Given the description of an element on the screen output the (x, y) to click on. 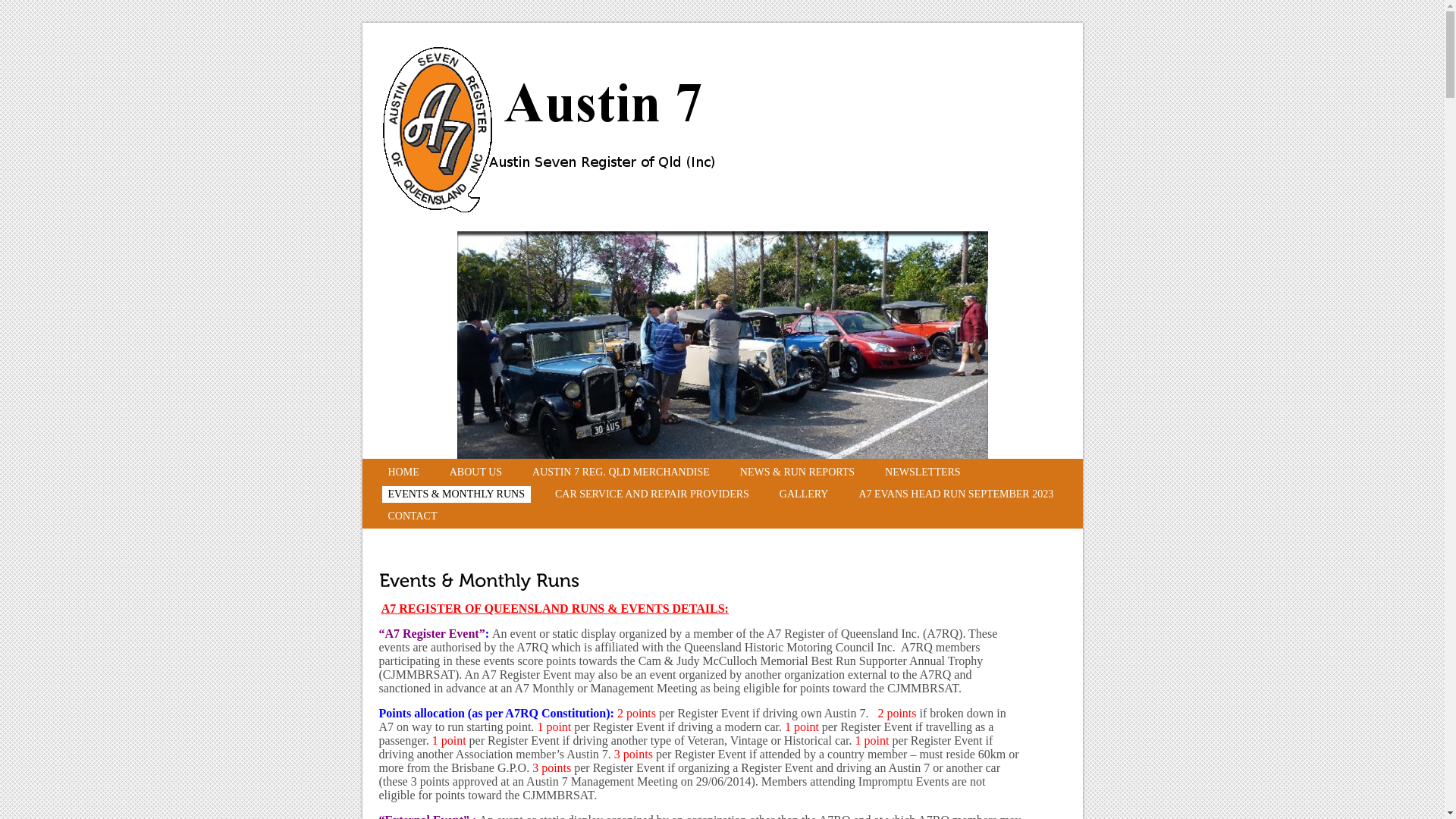
AUSTIN 7 REG. QLD MERCHANDISE Element type: text (620, 472)
HOME Element type: text (403, 472)
ABOUT US Element type: text (475, 472)
EVENTS & MONTHLY RUNS Element type: text (456, 494)
CONTACT Element type: text (412, 516)
CAR SERVICE AND REPAIR PROVIDERS Element type: text (652, 494)
A7 EVANS HEAD RUN SEPTEMBER 2023 Element type: text (955, 494)
GALLERY Element type: text (803, 494)
NEWSLETTERS Element type: text (922, 472)
NEWS & RUN REPORTS Element type: text (797, 472)
